Given the description of an element on the screen output the (x, y) to click on. 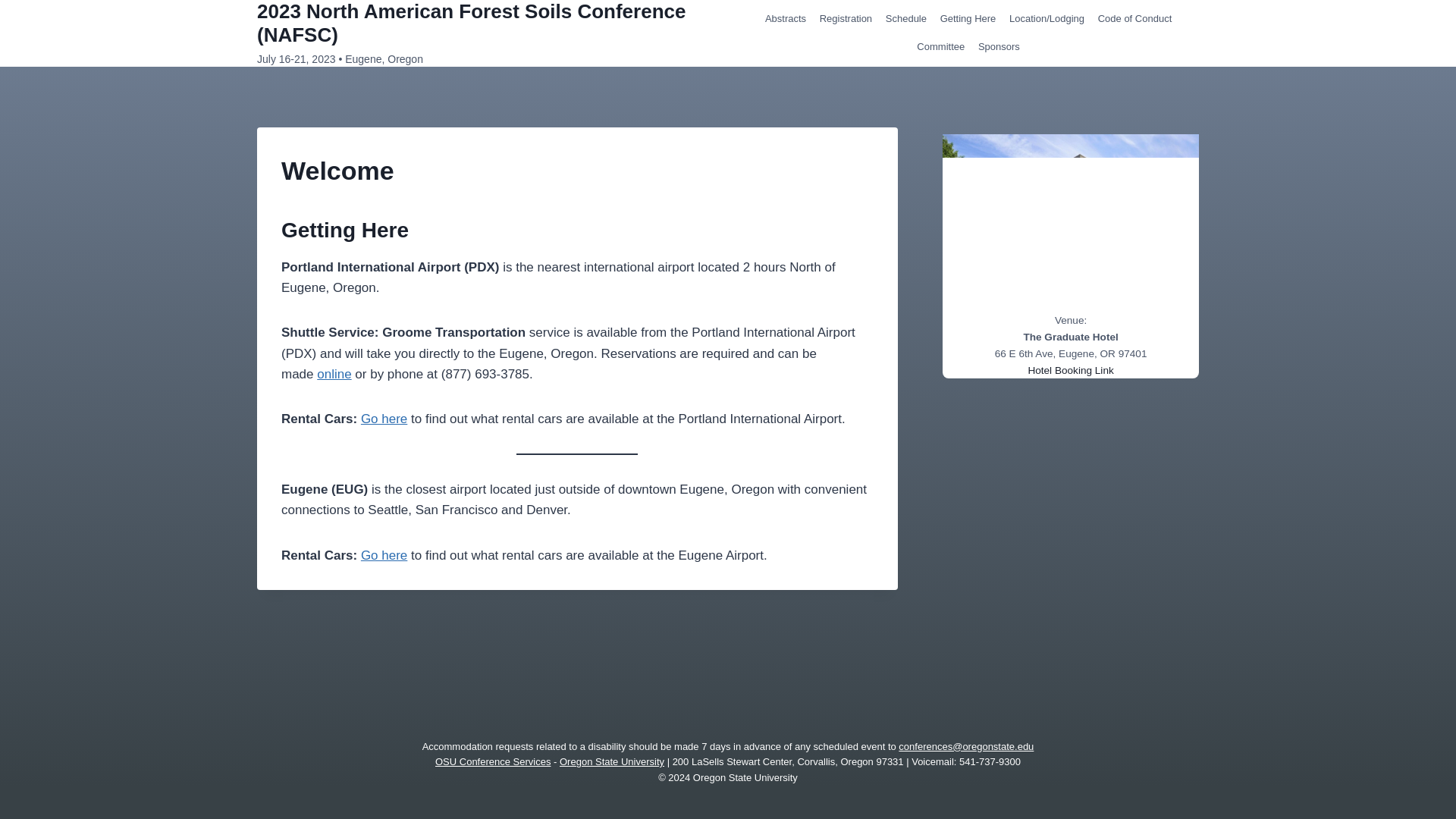
Oregon State University (611, 761)
Getting Here (968, 19)
Schedule (906, 19)
Committee (941, 46)
Sponsors (998, 46)
Registration (845, 19)
Abstracts (785, 19)
OSU Conference Services (492, 761)
online (333, 373)
Go here (384, 554)
